Given the description of an element on the screen output the (x, y) to click on. 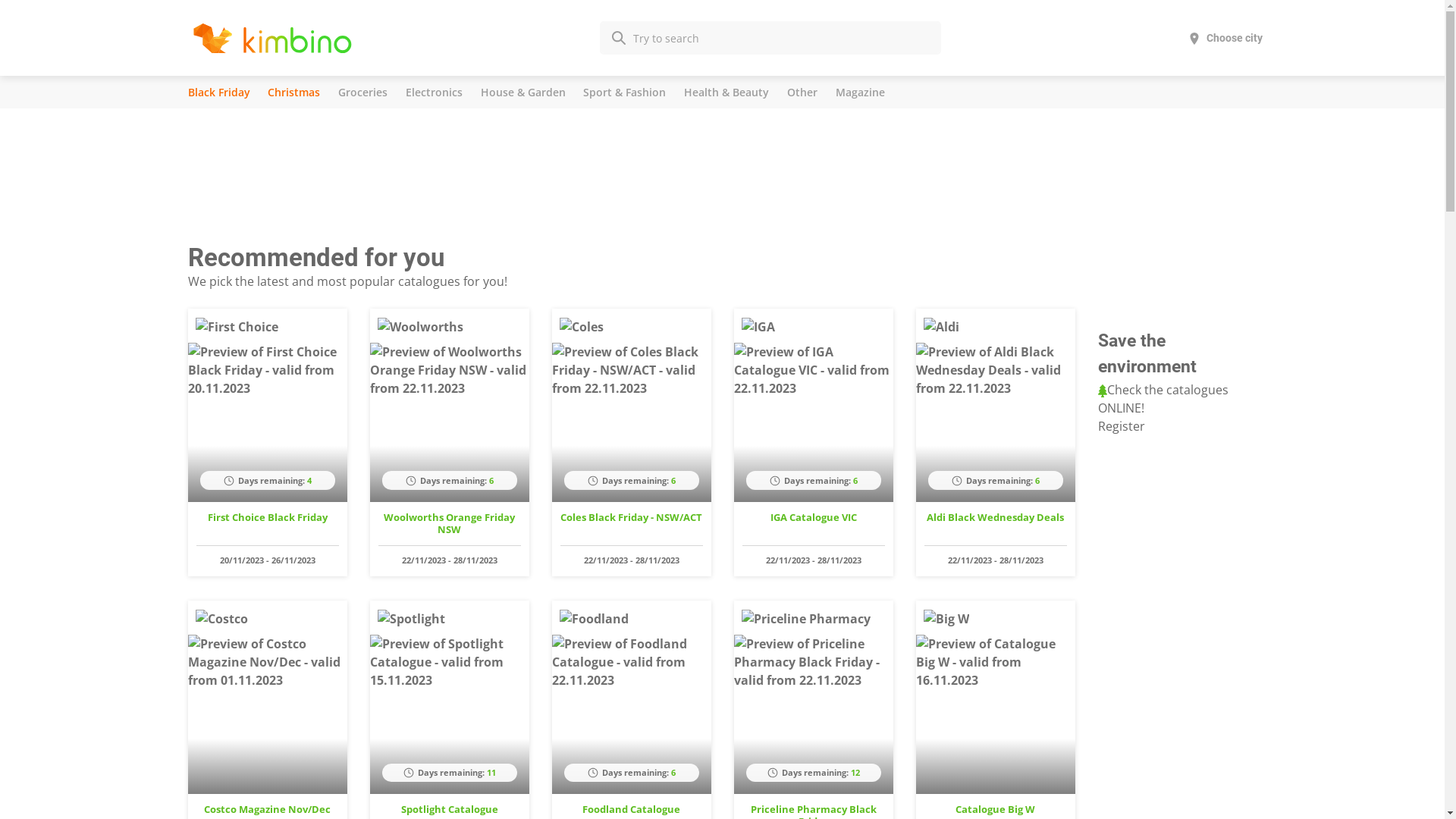
Groceries Element type: text (362, 91)
First Choice Element type: hover (236, 326)
Preview of Spotlight  Catalogue  - valid from 15.11.2023 Element type: hover (449, 661)
Preview of Costco Magazine Nov/Dec - valid from 01.11.2023 Element type: hover (267, 661)
Big W Element type: hover (946, 618)
Costco Element type: hover (221, 618)
House & Garden Element type: text (522, 91)
Preview of Catalogue Big W - valid from 16.11.2023 Element type: hover (995, 661)
Foodland Element type: hover (593, 618)
Try to search Element type: text (769, 37)
IGA Element type: hover (758, 326)
Aldi Element type: hover (941, 326)
Spotlight Element type: hover (411, 618)
Preview of Foodland  Catalogue  - valid from 22.11.2023 Element type: hover (631, 661)
Preview of First Choice Black Friday - valid from 20.11.2023 Element type: hover (267, 369)
Health & Beauty Element type: text (726, 91)
Christmas Element type: text (293, 91)
Woolworths Element type: hover (420, 326)
Coles Element type: hover (581, 326)
Electronics Element type: text (433, 91)
Black Friday Element type: text (219, 91)
Priceline Pharmacy Element type: hover (805, 618)
Preview of IGA Catalogue VIC - valid from 22.11.2023 Element type: hover (813, 369)
Sport & Fashion Element type: text (624, 91)
Magazine Element type: text (859, 91)
Days remaining: 6
IGA Catalogue VIC
22/11/2023 - 28/11/2023 Element type: text (813, 442)
Other Element type: text (802, 91)
